Given the description of an element on the screen output the (x, y) to click on. 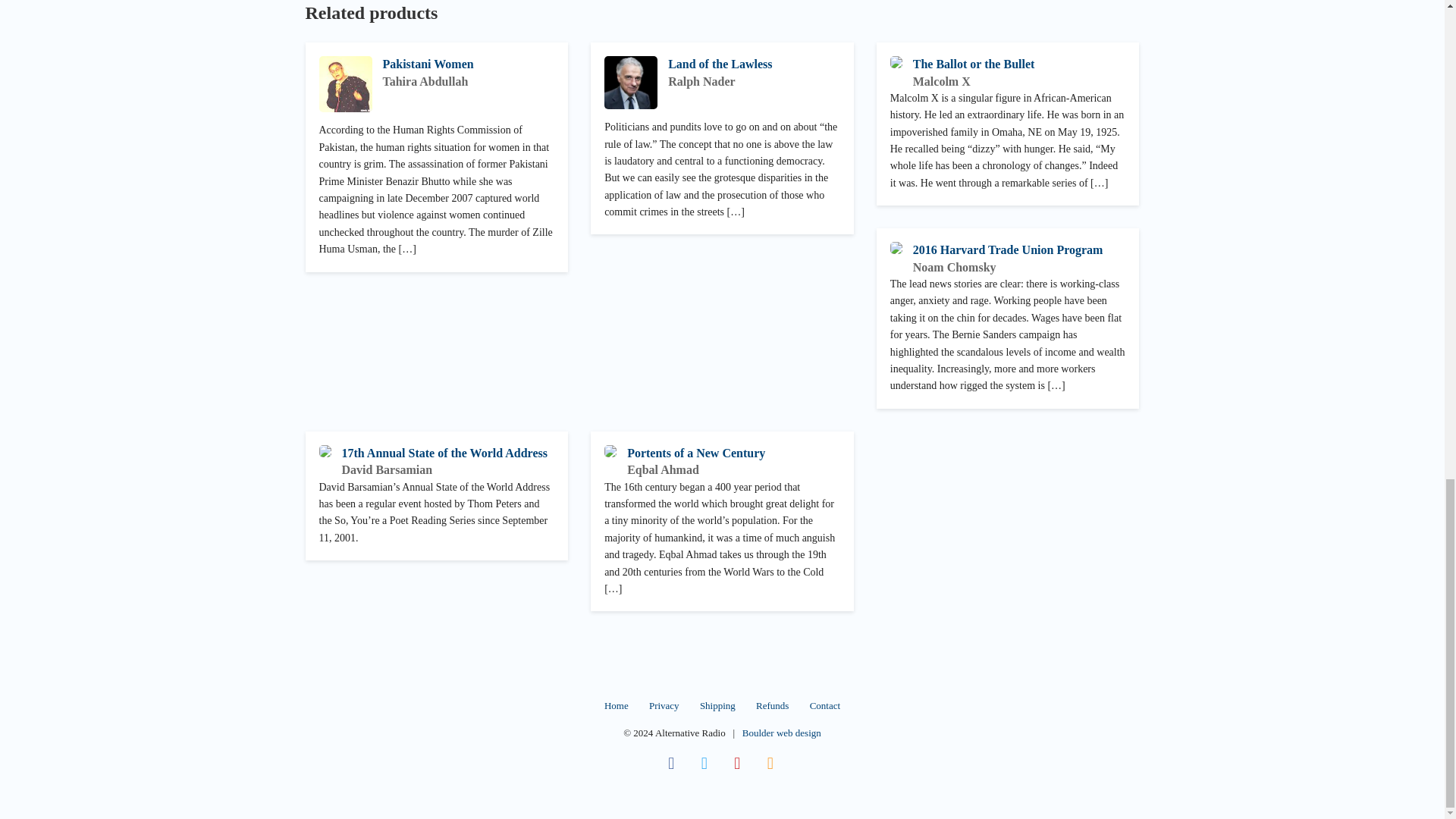
YouTube (737, 763)
Facebook (670, 763)
Podcast (769, 763)
Twitter (704, 763)
